Given the description of an element on the screen output the (x, y) to click on. 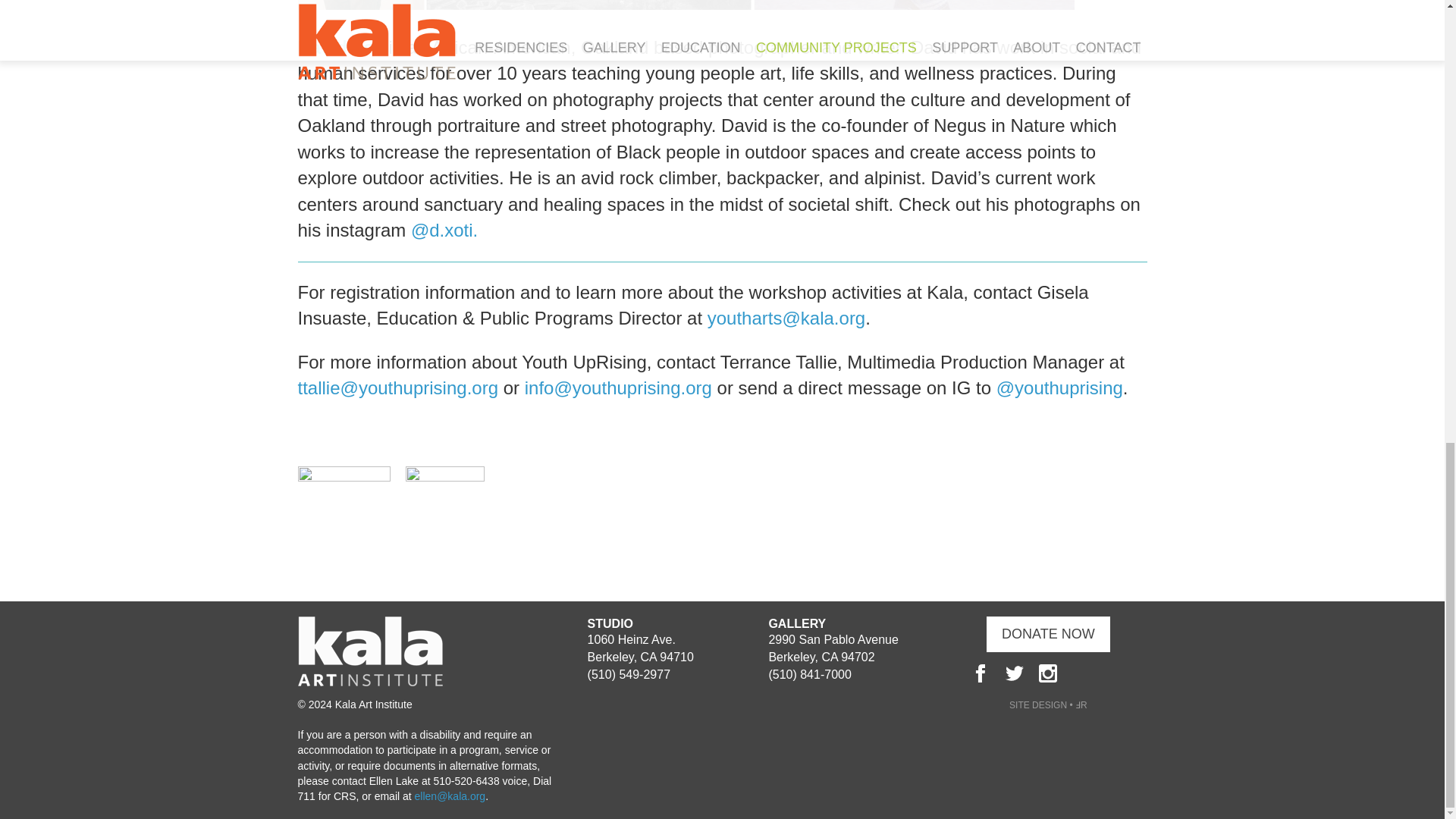
Instagram (1048, 673)
Artsy (1081, 673)
Vimeo (1115, 673)
Twitter (1014, 673)
Facebook (980, 673)
Kala Art Institute (369, 681)
Website Design by Future Reference (1048, 705)
